Given the description of an element on the screen output the (x, y) to click on. 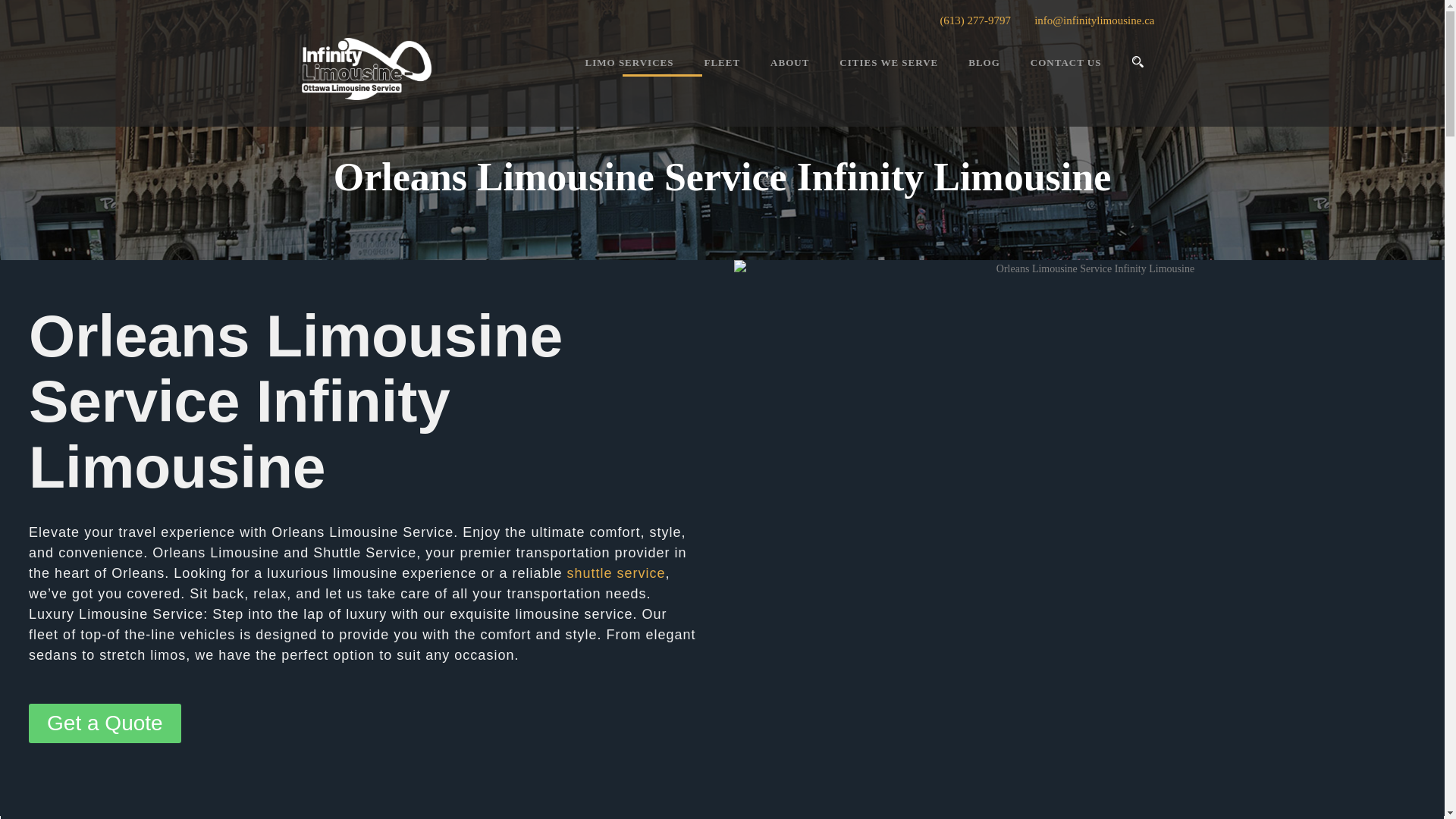
LIMO SERVICES (629, 74)
ABOUT (774, 74)
shuttle service (615, 572)
CITIES WE SERVE (873, 74)
CONTACT US (1051, 74)
BLOG (968, 74)
FLEET (705, 74)
Get a Quote (104, 722)
